Given the description of an element on the screen output the (x, y) to click on. 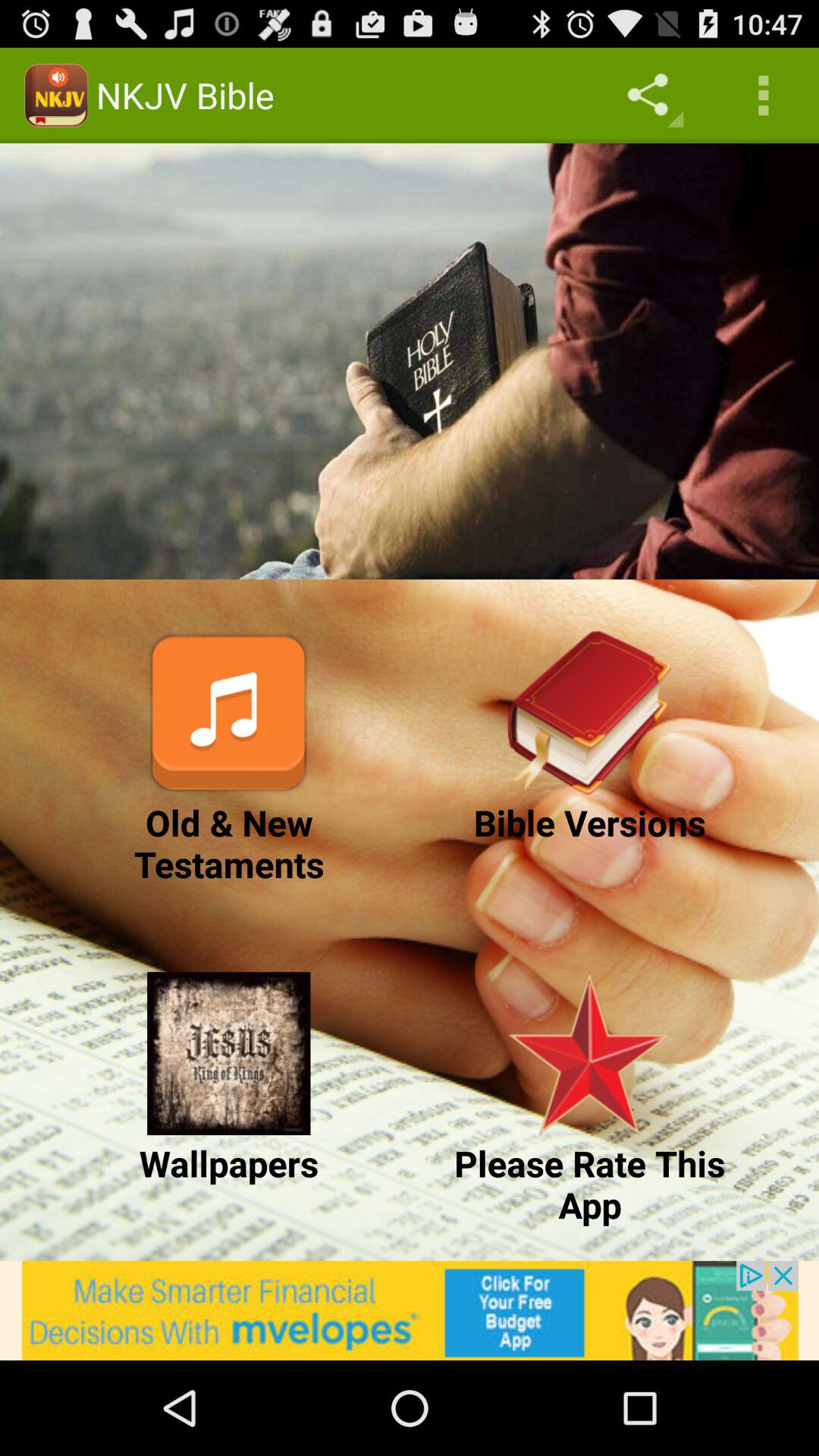
view advertisement (409, 1310)
